Given the description of an element on the screen output the (x, y) to click on. 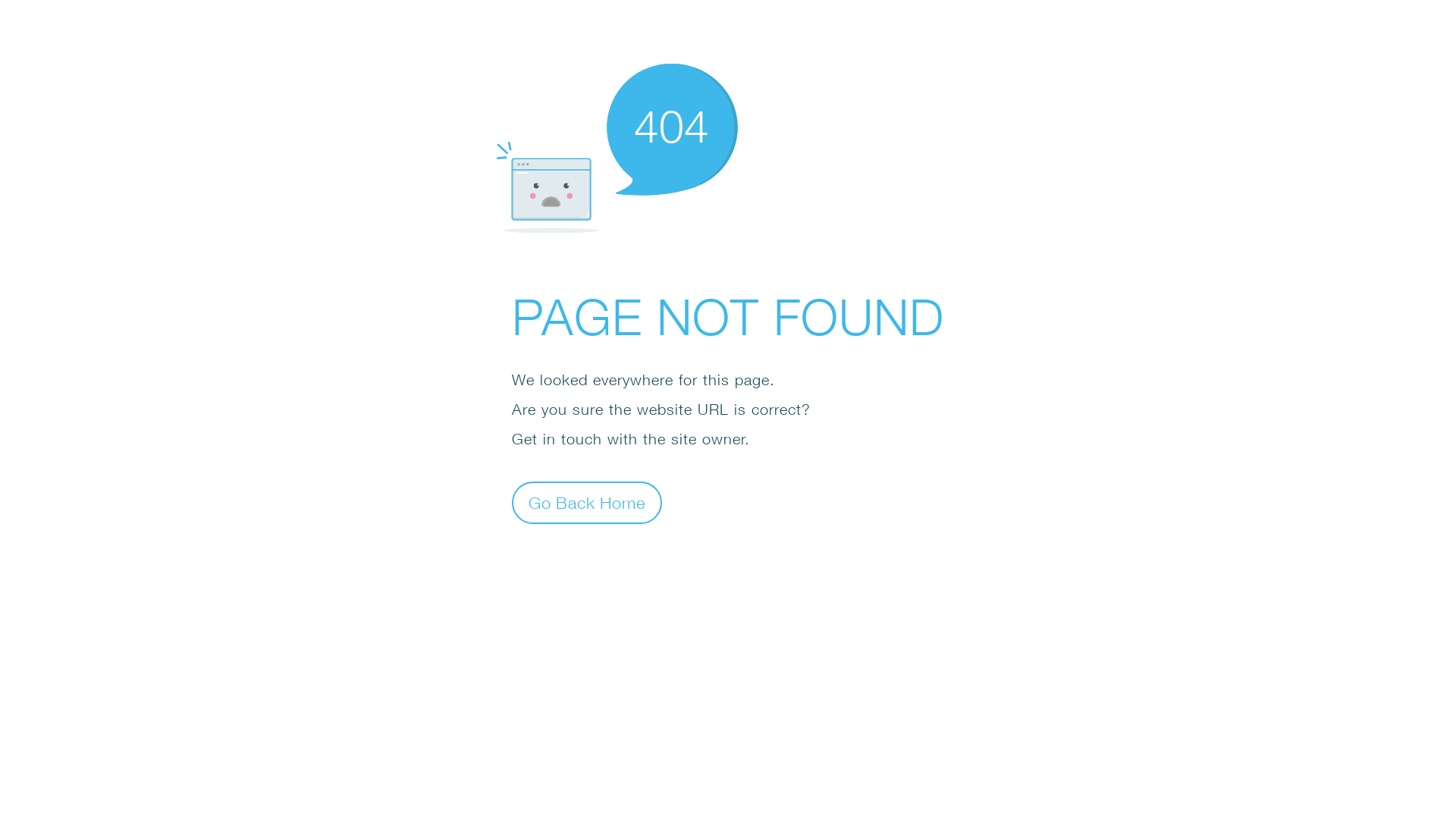
Go Back Home Element type: text (586, 502)
